Given the description of an element on the screen output the (x, y) to click on. 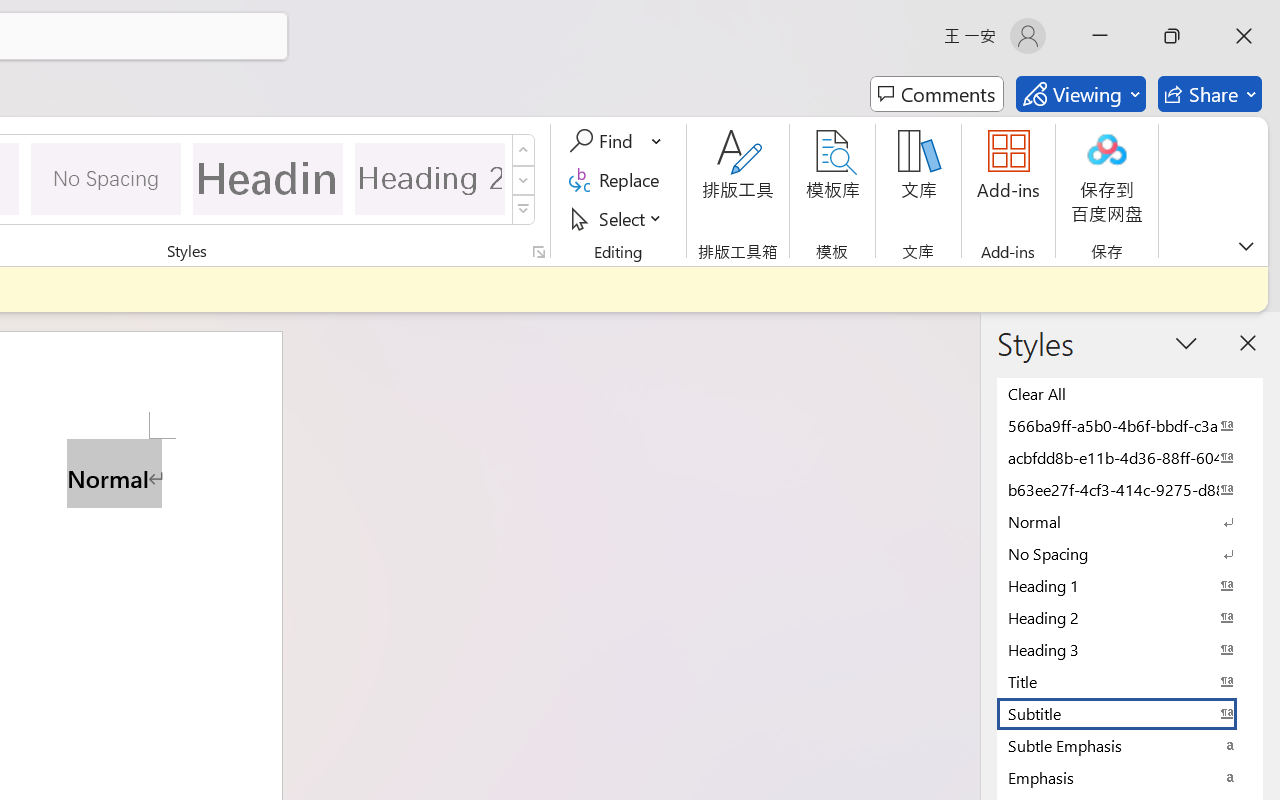
b63ee27f-4cf3-414c-9275-d88e3f90795e (1130, 489)
Ribbon Display Options (1246, 245)
Clear All (1130, 393)
566ba9ff-a5b0-4b6f-bbdf-c3ab41993fc2 (1130, 425)
Task Pane Options (1186, 343)
Styles (523, 209)
Select (618, 218)
Title (1130, 681)
